Given the description of an element on the screen output the (x, y) to click on. 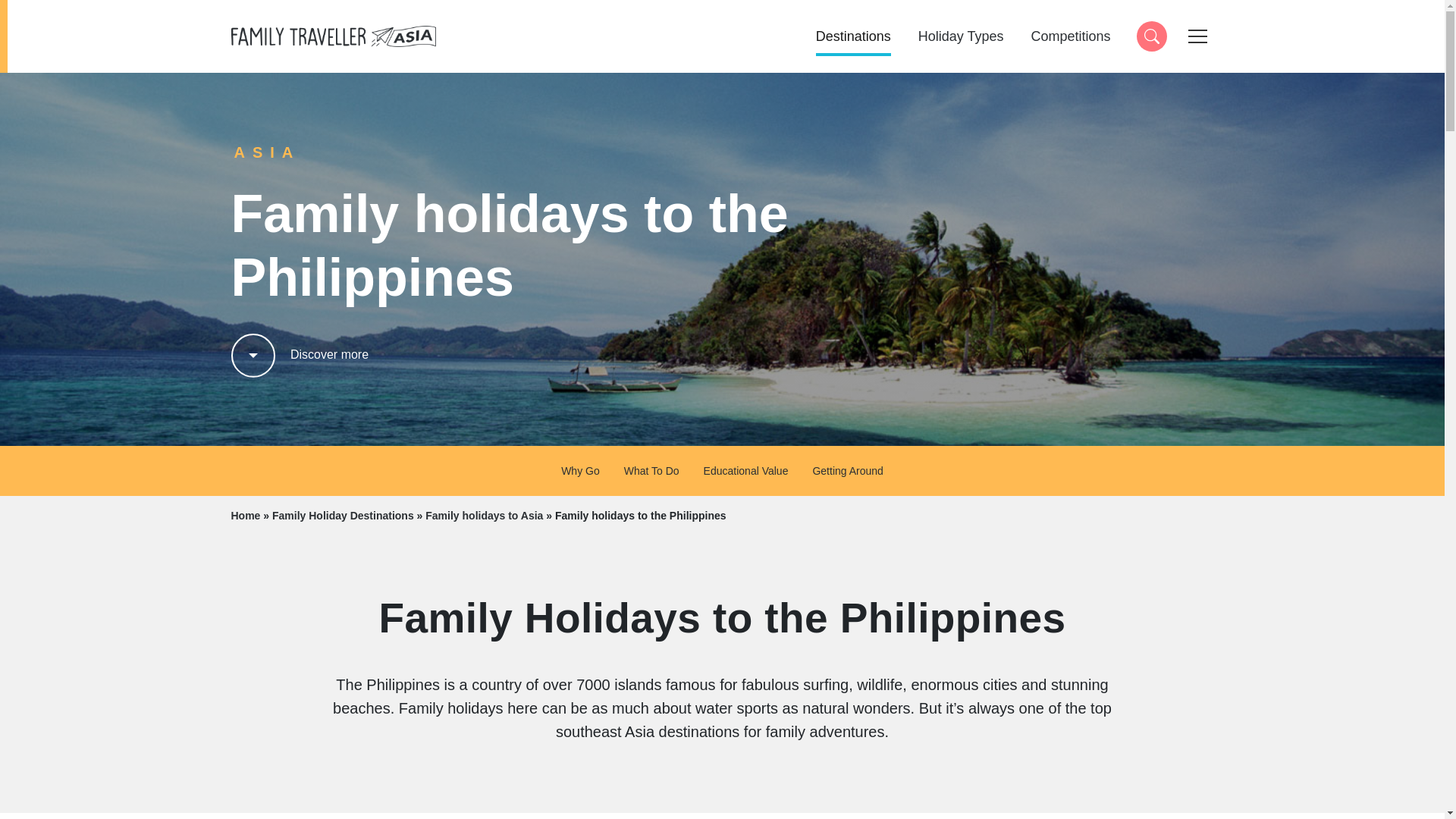
Destinations (852, 36)
Competitions (1070, 36)
Search anything... (332, 35)
Holiday Types (1150, 36)
Scroll Down (961, 36)
